Given the description of an element on the screen output the (x, y) to click on. 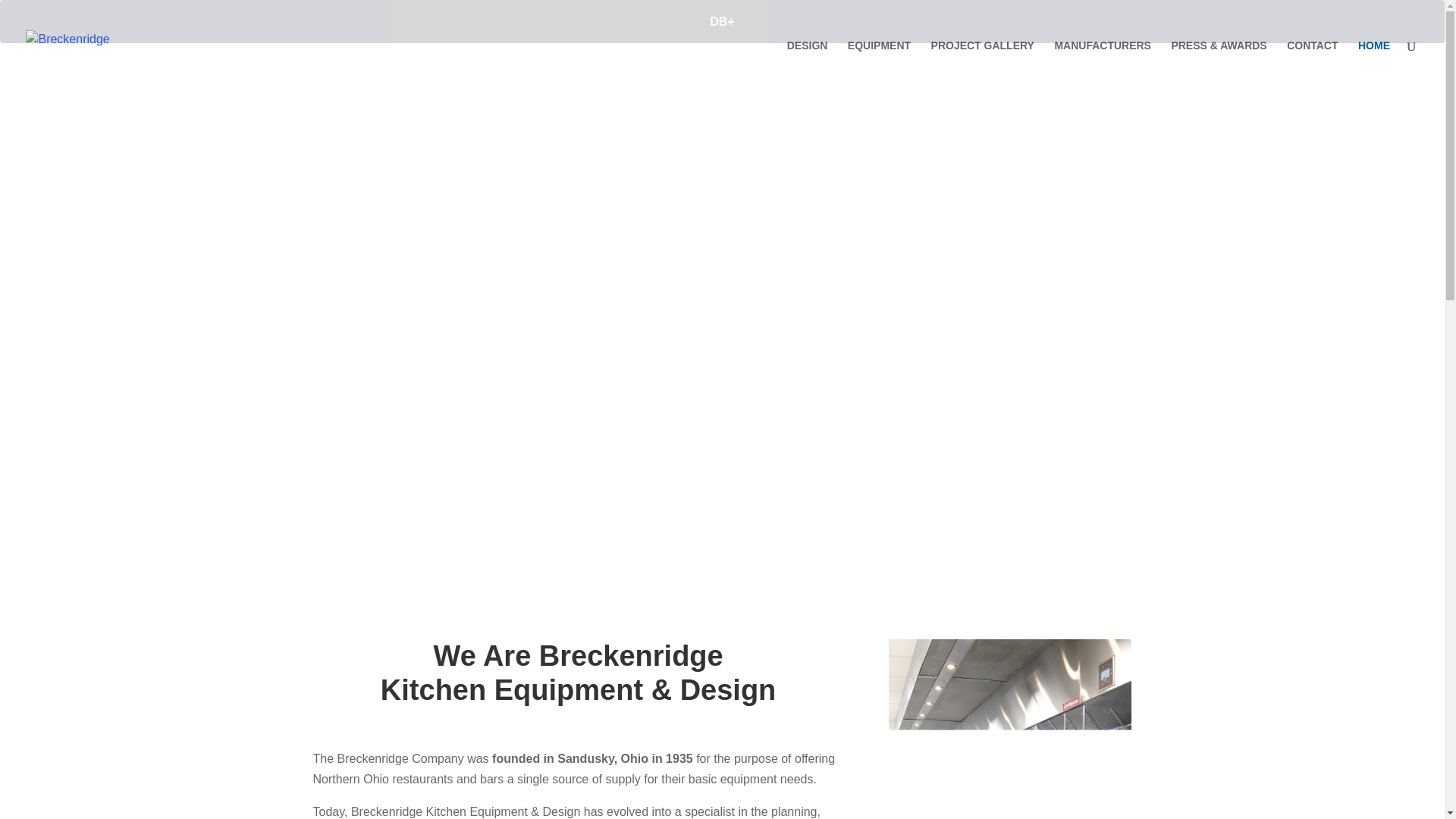
EQUIPMENT (879, 65)
CONTACT (1312, 65)
EHOVE 1322 (1009, 729)
PROJECT GALLERY (982, 65)
MANUFACTURERS (1102, 65)
